Given the description of an element on the screen output the (x, y) to click on. 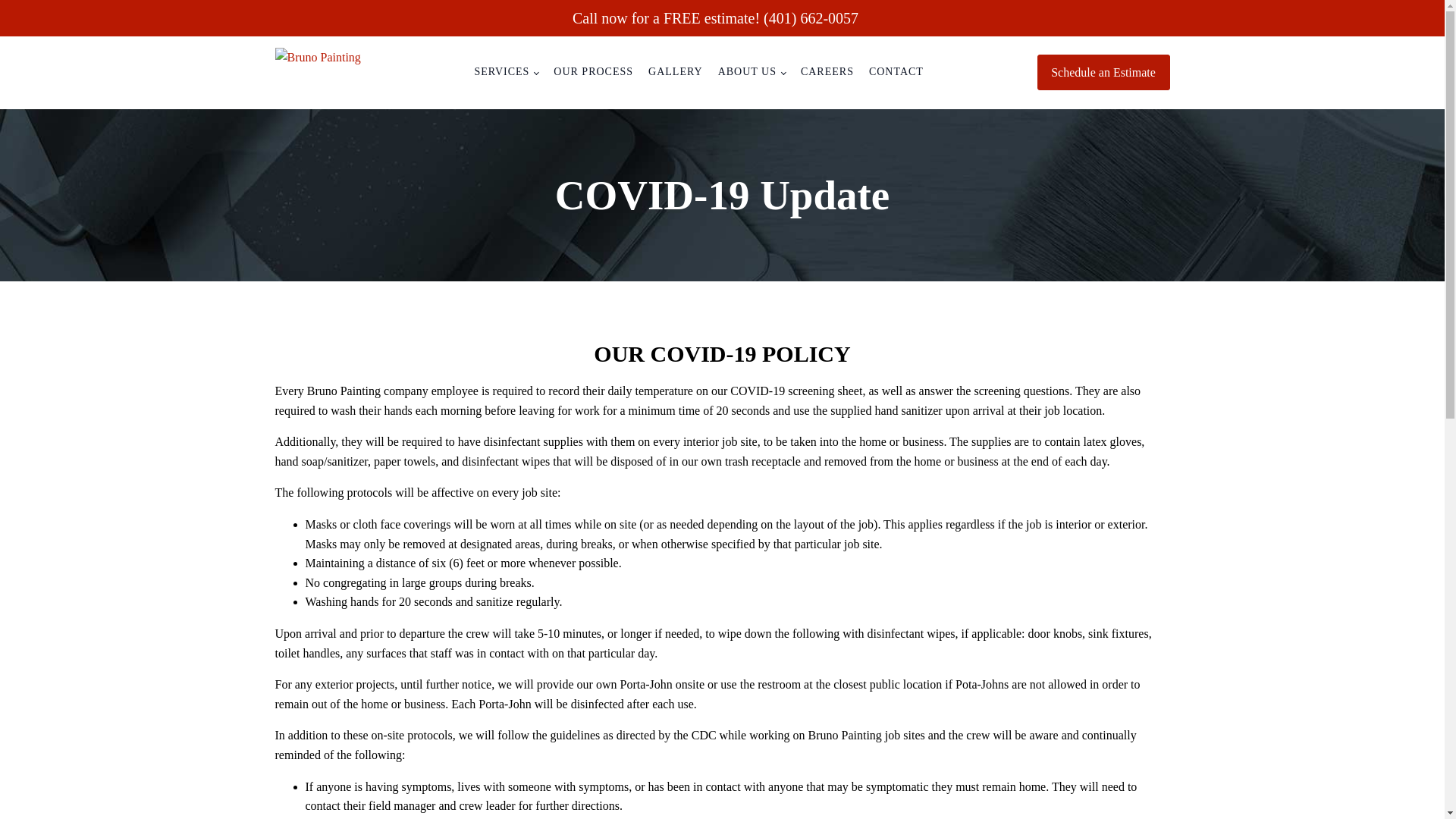
SERVICES (505, 71)
CAREERS (827, 71)
GALLERY (675, 71)
ABOUT US (751, 71)
Schedule an Estimate (1103, 72)
CONTACT (896, 71)
OUR PROCESS (593, 71)
